Given the description of an element on the screen output the (x, y) to click on. 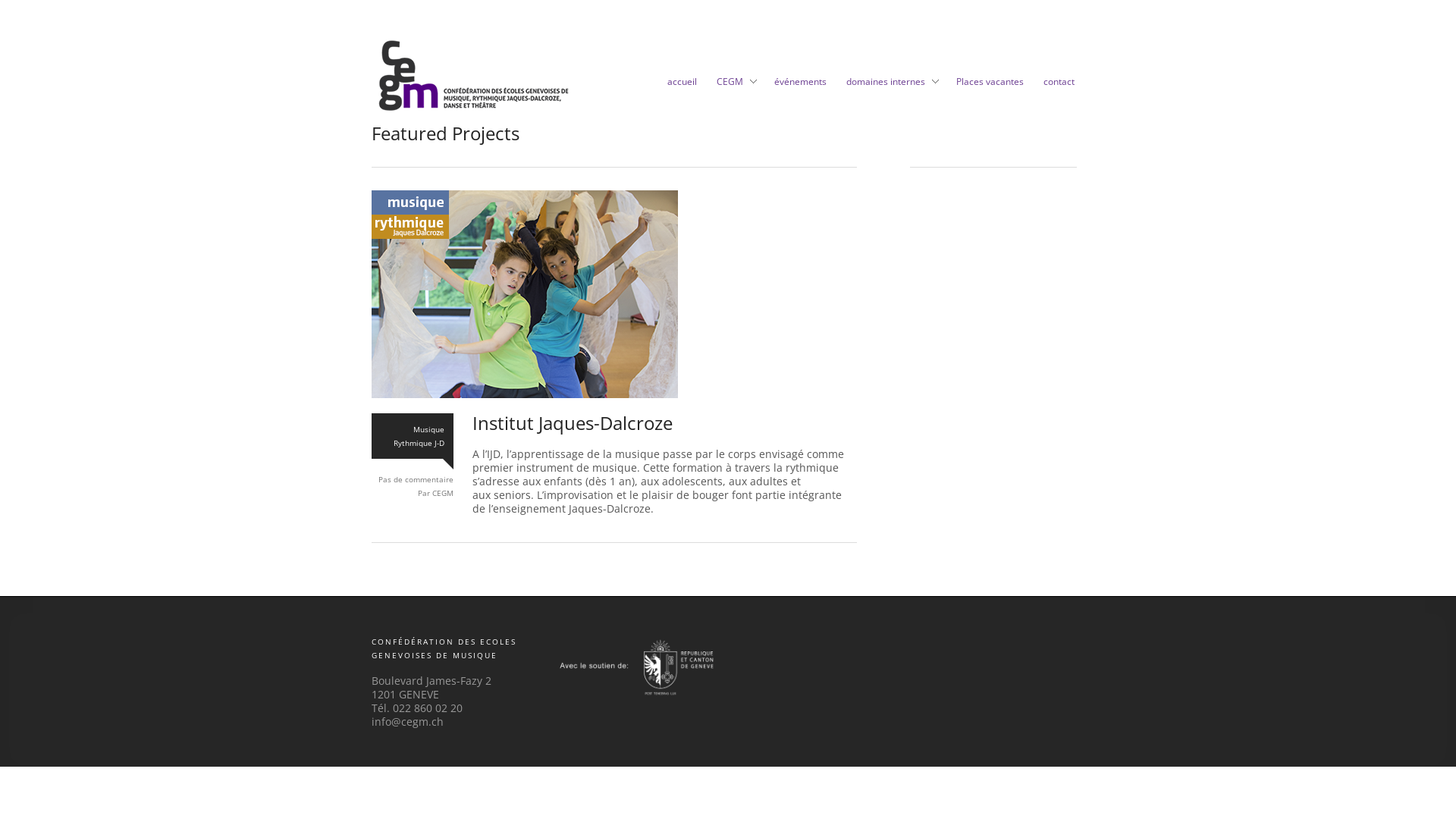
Rythmique J-D Element type: text (418, 442)
accueil Element type: text (682, 90)
contact Element type: text (1058, 90)
Musique Element type: text (428, 428)
Institut Jaques-Dalcroze Element type: text (572, 422)
Places vacantes Element type: text (989, 90)
Institut Jaques-Dalcroze Element type: hover (524, 294)
Pas de commentaire Element type: text (415, 478)
